Given the description of an element on the screen output the (x, y) to click on. 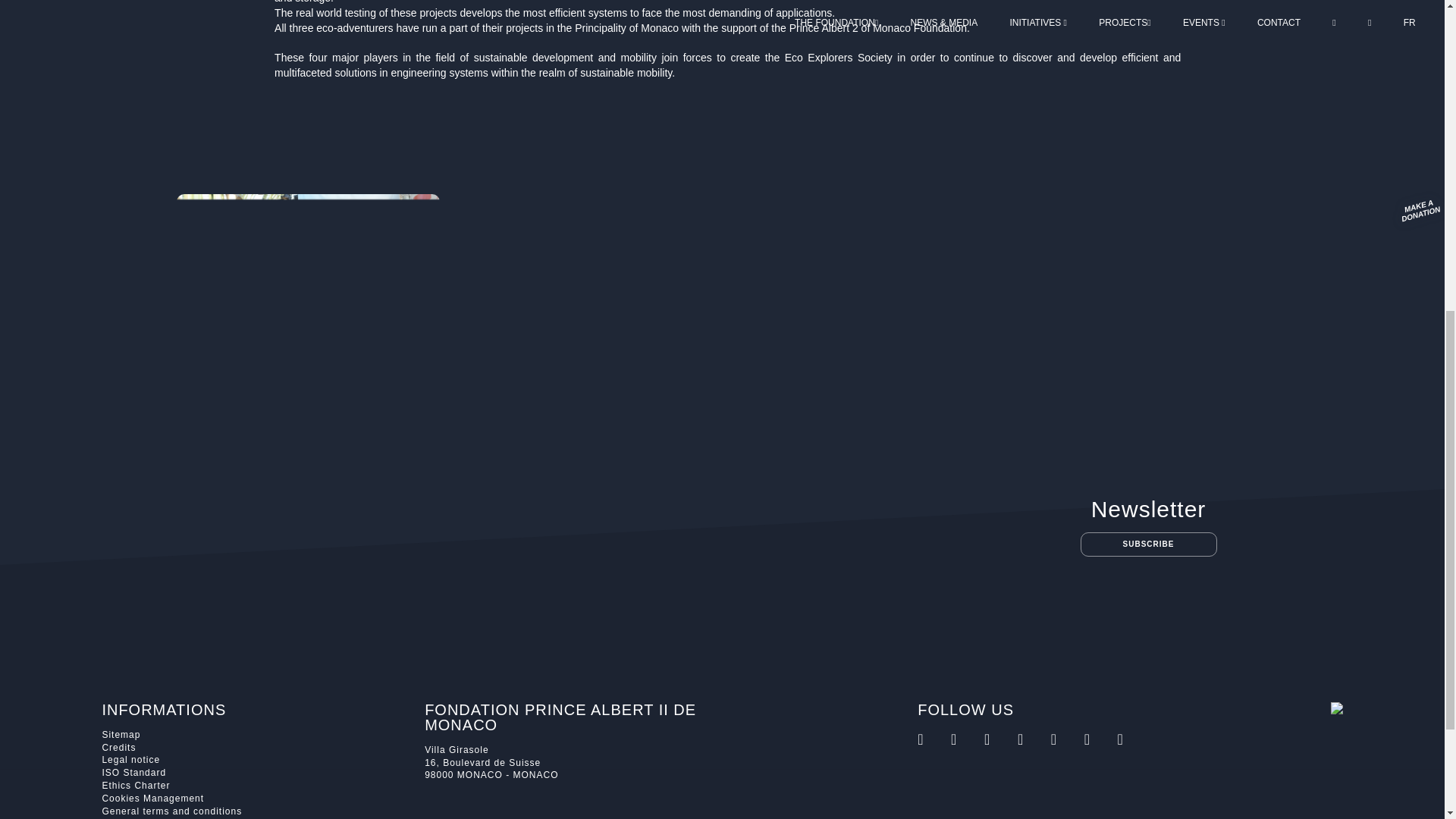
Instagram (999, 739)
RSS Fondation Prince Albert II de Monaco - actualites (932, 739)
webtv (1066, 739)
LinkedIn (1099, 739)
Youtube (1133, 739)
Twitter (1032, 739)
Facebook (965, 739)
